Given the description of an element on the screen output the (x, y) to click on. 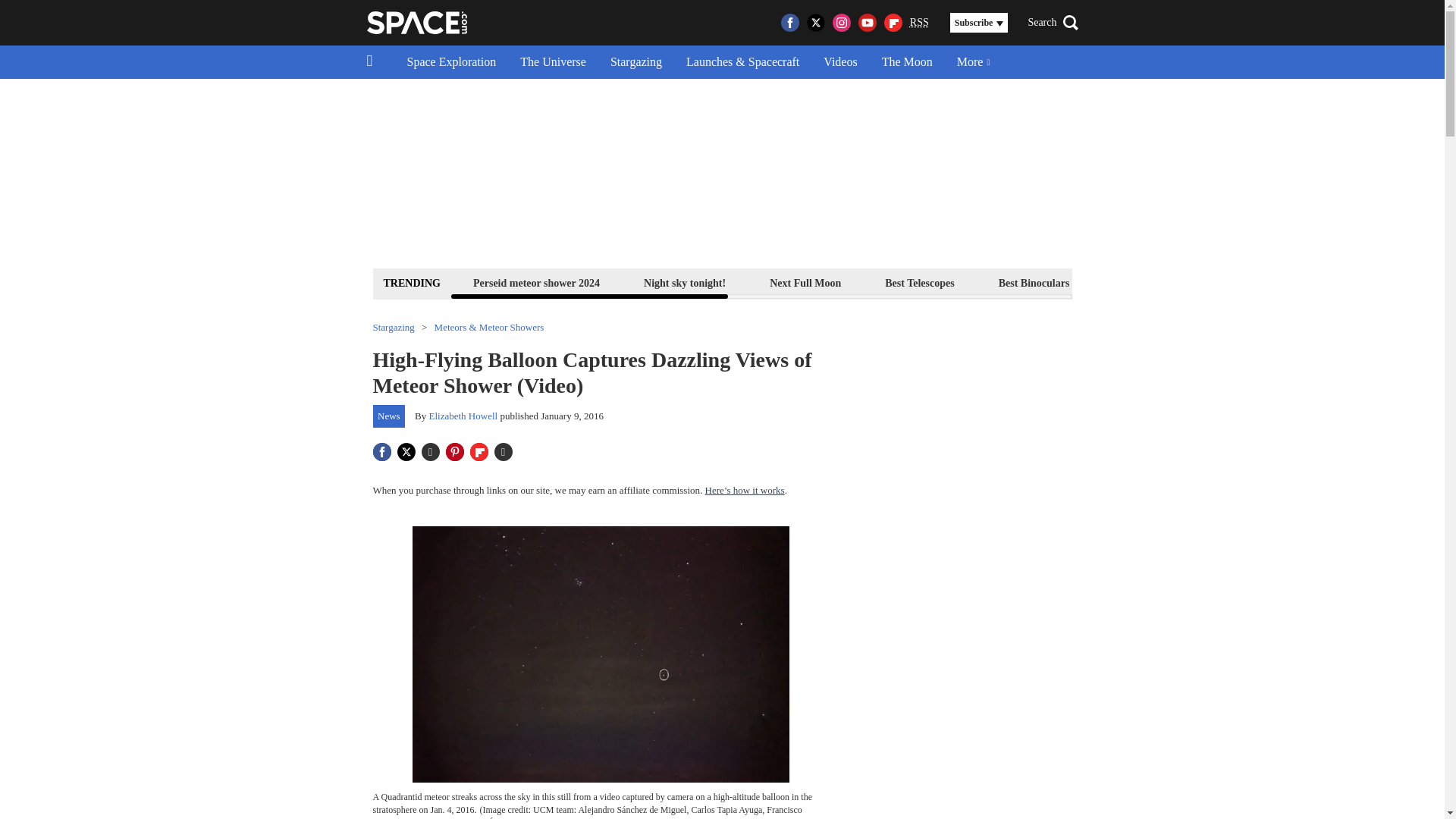
Videos (839, 61)
Space Calendar (1283, 282)
Night sky tonight! (684, 282)
Stargazing (636, 61)
The Universe (553, 61)
Perseid meteor shower 2024 (536, 282)
Best Telescopes (919, 282)
Next Full Moon (804, 282)
Space Exploration (451, 61)
Really Simple Syndication (919, 21)
